Given the description of an element on the screen output the (x, y) to click on. 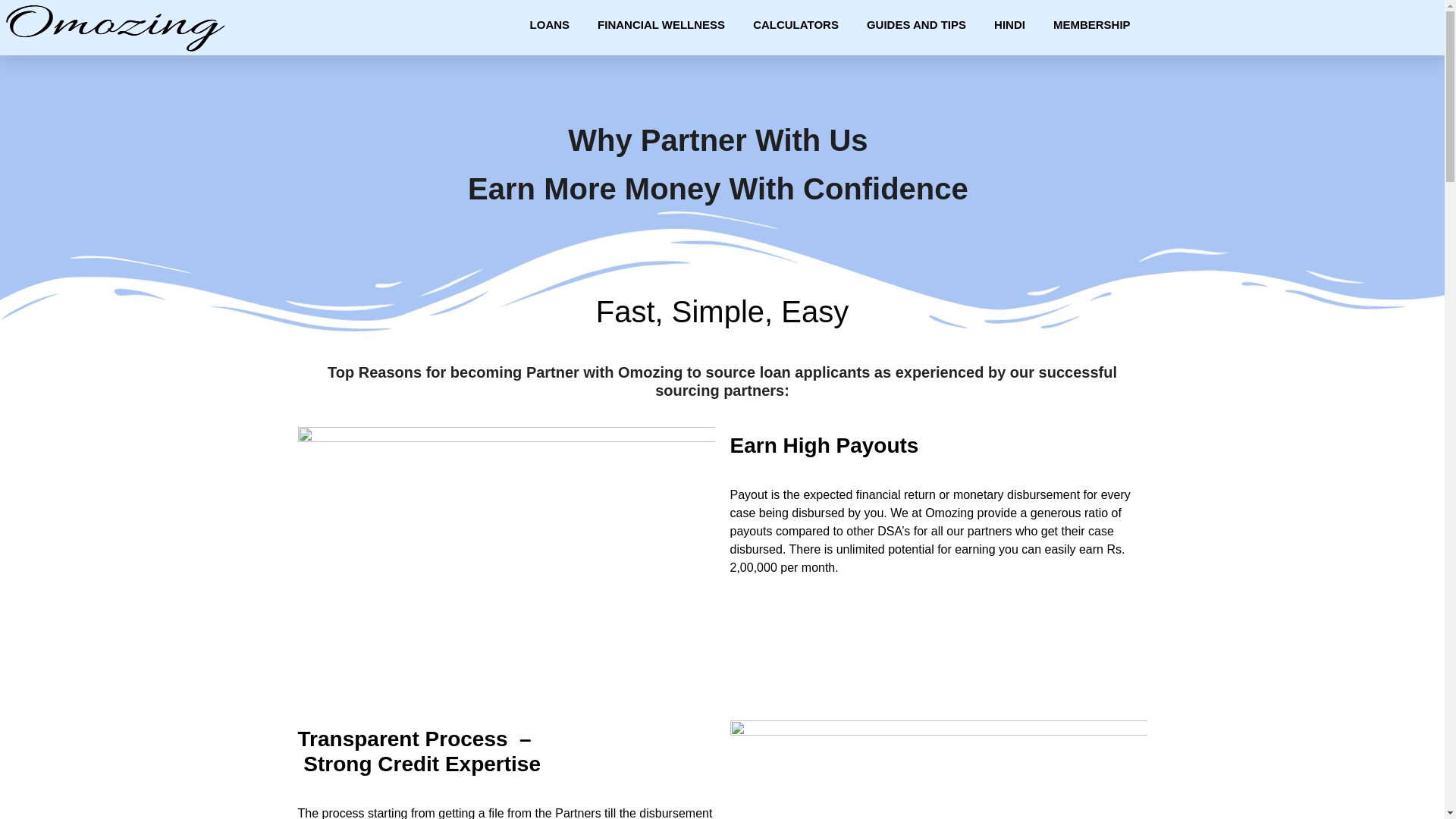
CALCULATORS (795, 24)
FINANCIAL WELLNESS (660, 24)
GUIDES AND TIPS (916, 24)
